Given the description of an element on the screen output the (x, y) to click on. 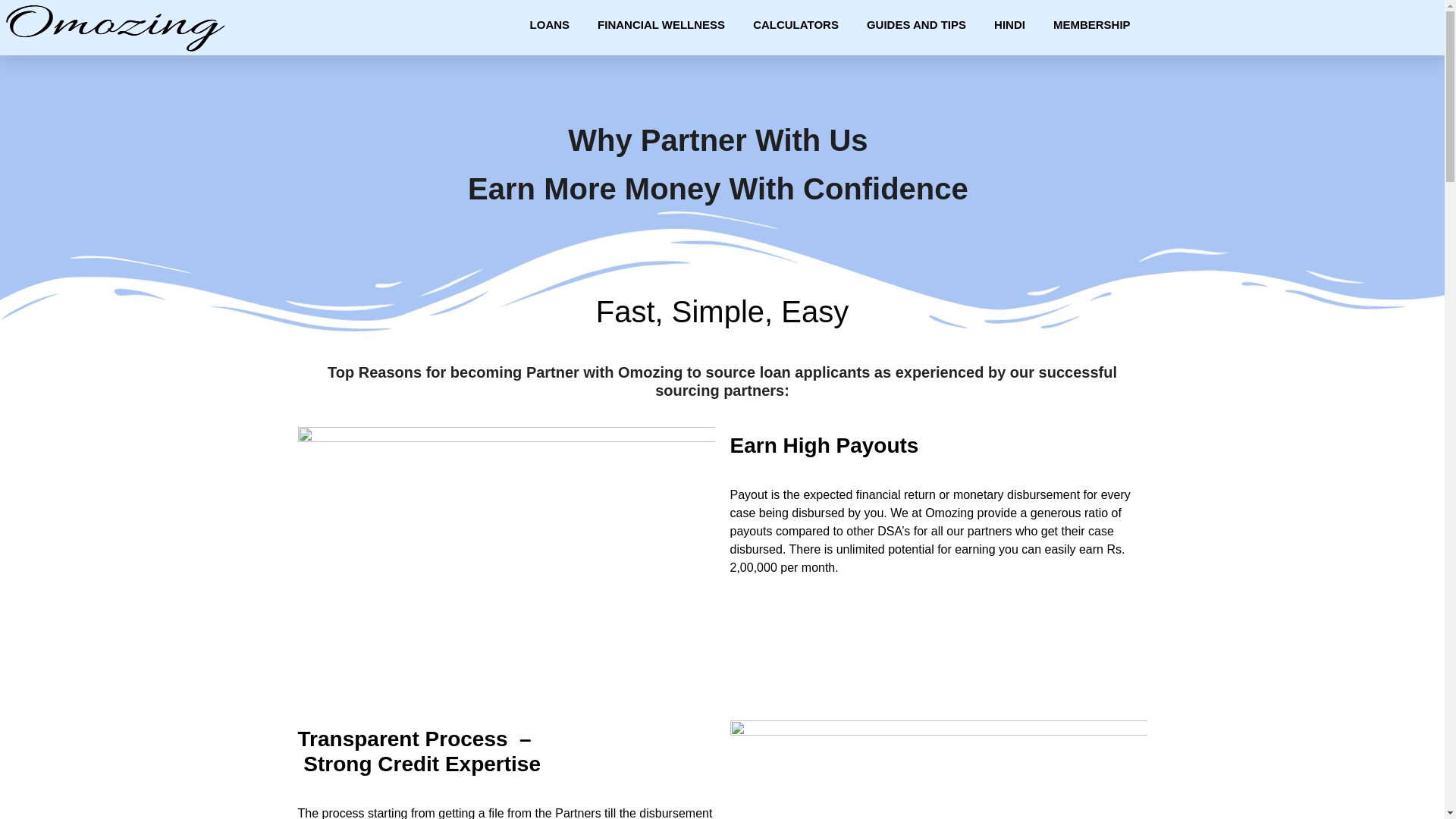
CALCULATORS (795, 24)
FINANCIAL WELLNESS (660, 24)
GUIDES AND TIPS (916, 24)
